Given the description of an element on the screen output the (x, y) to click on. 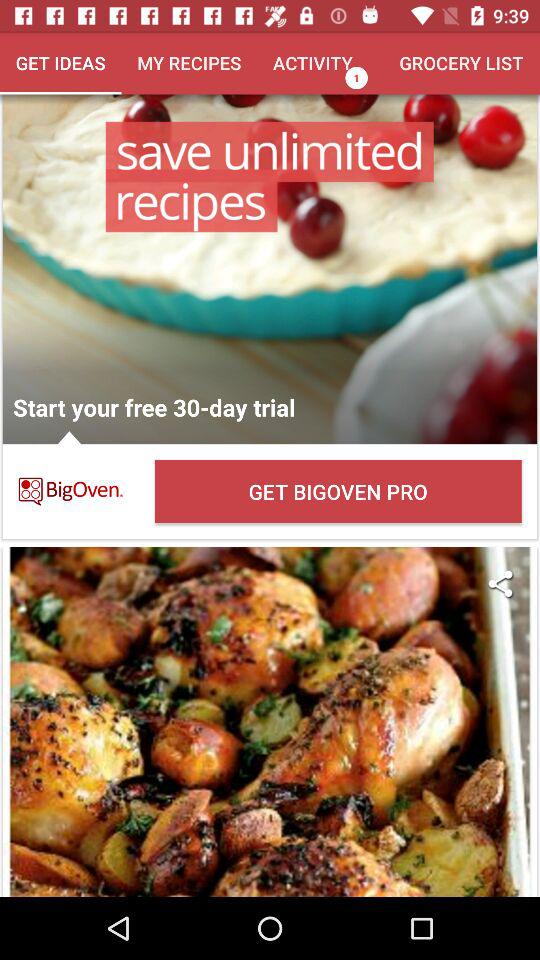
select the icon below get bigoven pro item (500, 583)
